Given the description of an element on the screen output the (x, y) to click on. 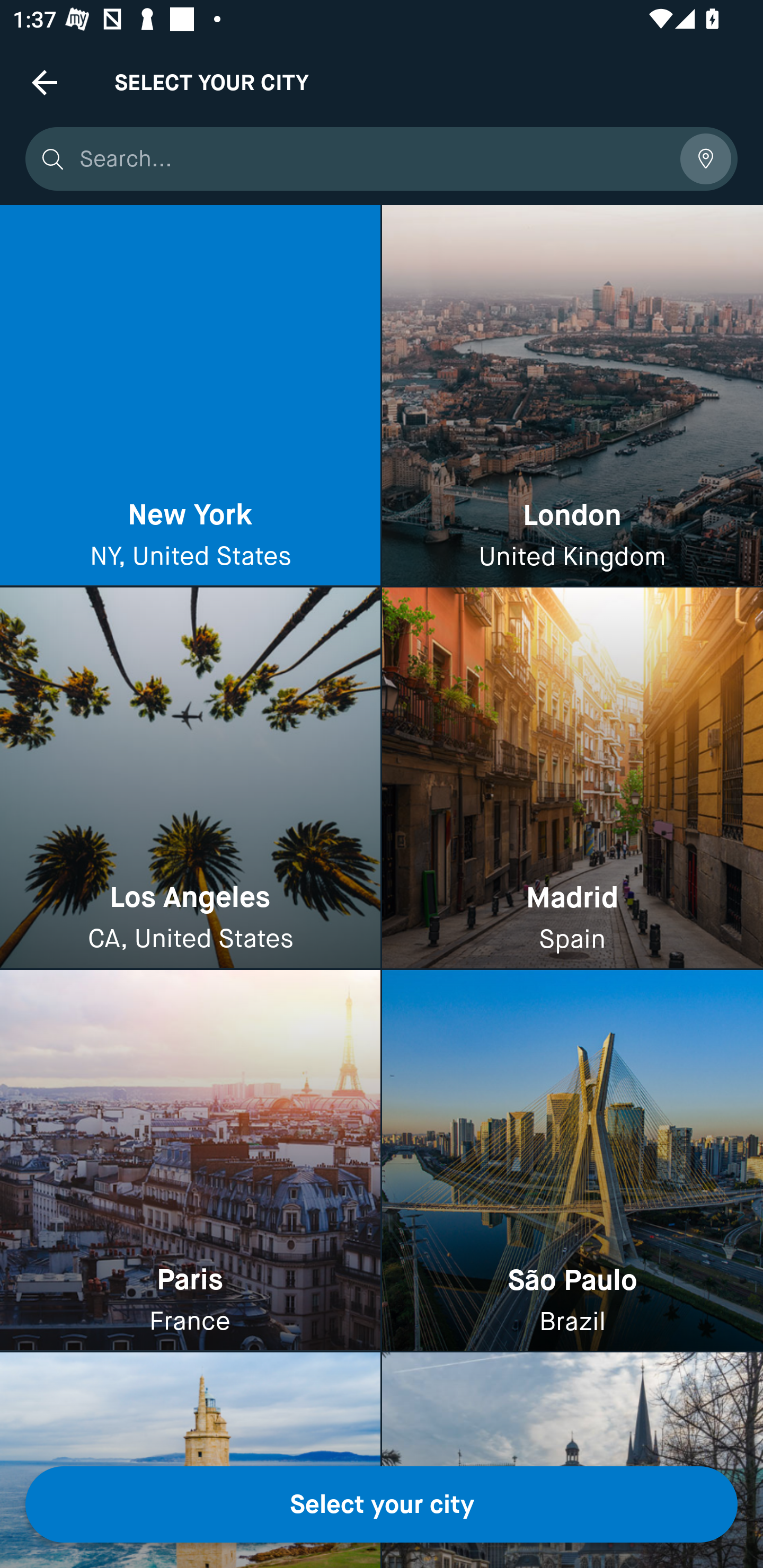
Navigate up (44, 82)
Search... (373, 159)
New York NY, United States (190, 395)
London United Kingdom (572, 395)
Los Angeles CA, United States (190, 778)
Madrid Spain (572, 778)
Paris France (190, 1160)
São Paulo Brazil (572, 1160)
Select your city (381, 1504)
